Given the description of an element on the screen output the (x, y) to click on. 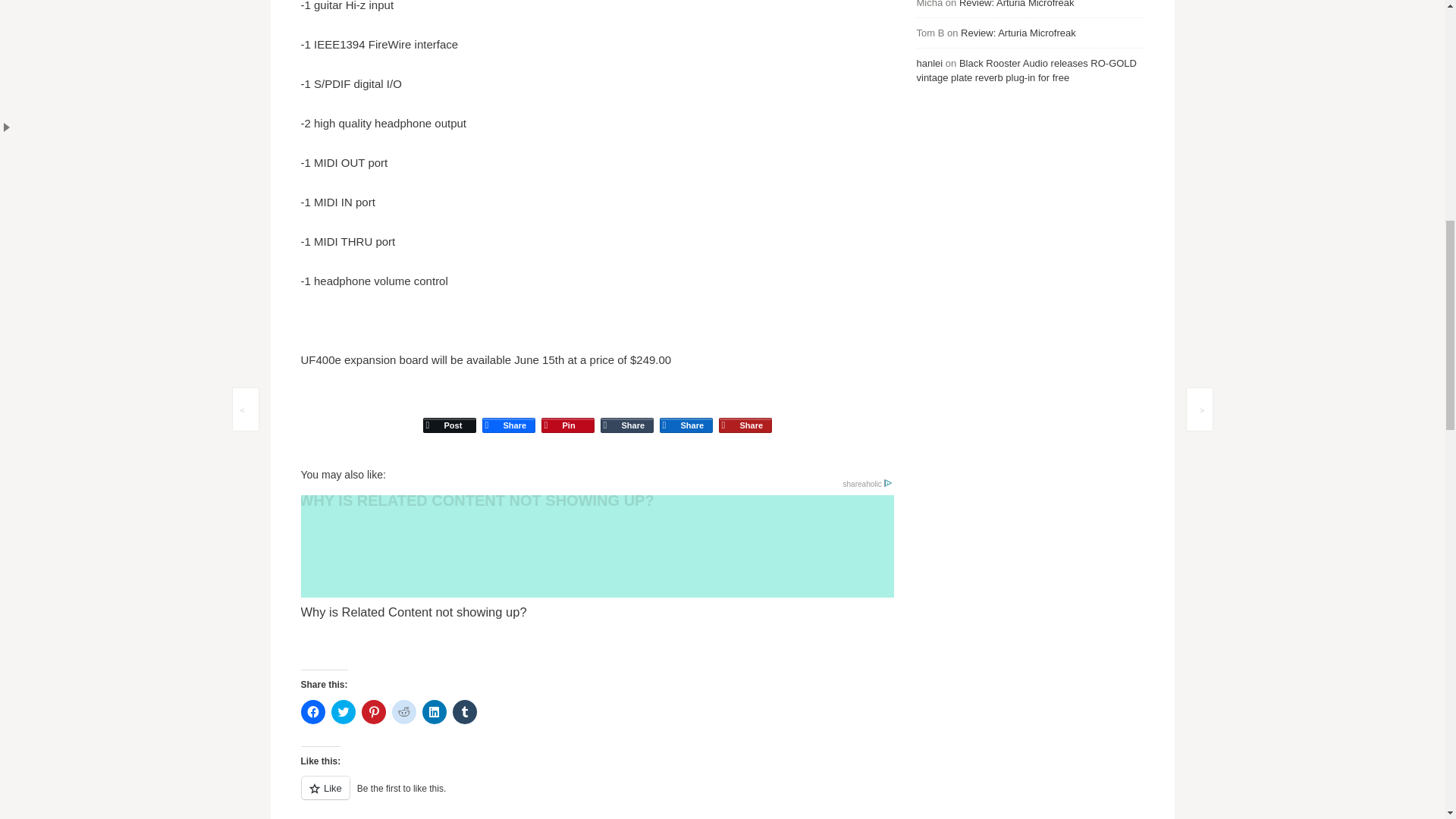
Pinterest (567, 411)
Facebook (508, 411)
Flipboard (745, 411)
Website Tools by Shareaholic (867, 483)
Why is Related Content not showing up? (596, 557)
Tumblr (626, 411)
shareaholic (867, 483)
LinkedIn (686, 411)
